Given the description of an element on the screen output the (x, y) to click on. 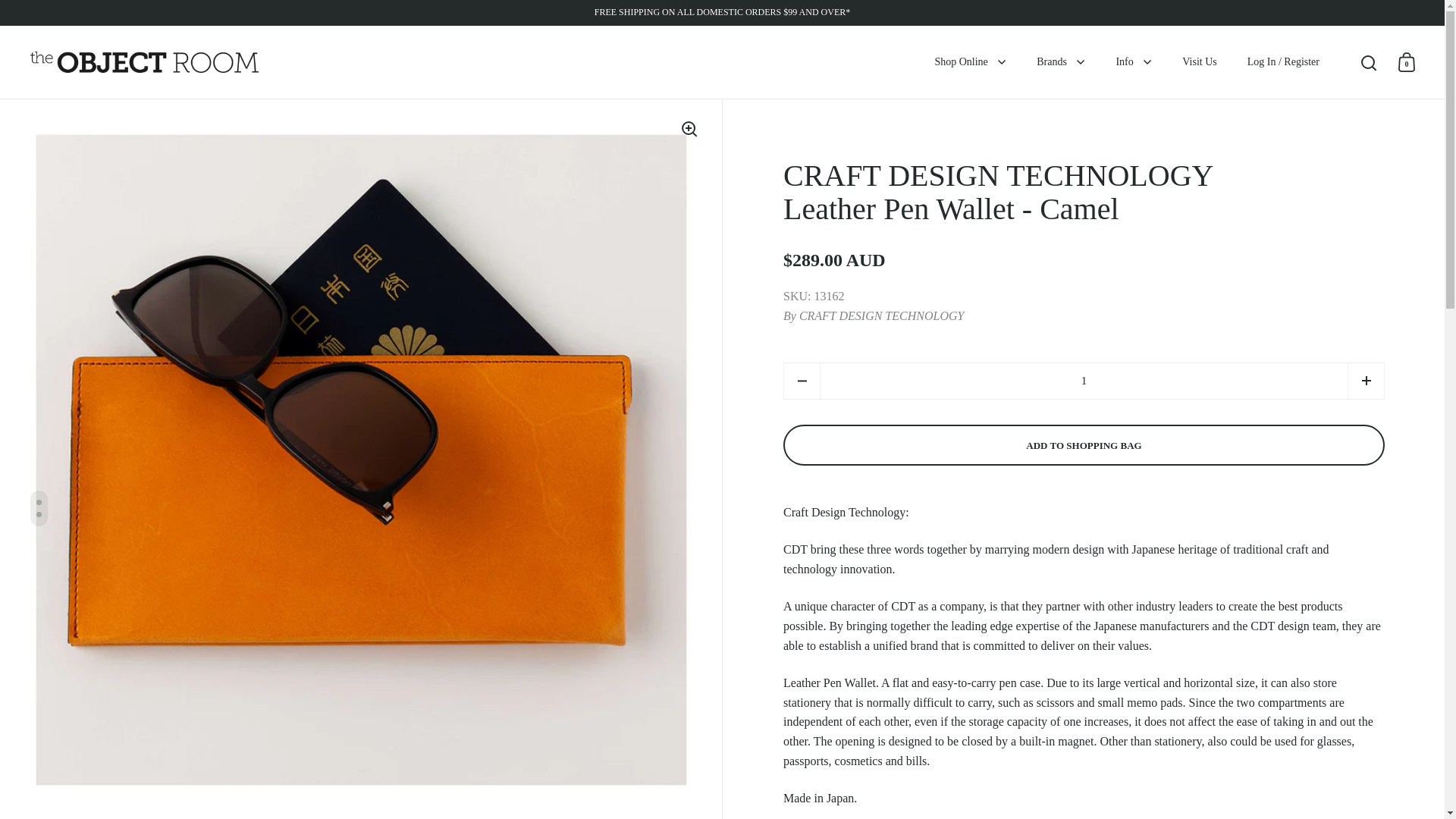
Brands (1061, 61)
ADD TO SHOPPING BAG (1083, 445)
Shop Online (970, 61)
1 (1084, 380)
